Given the description of an element on the screen output the (x, y) to click on. 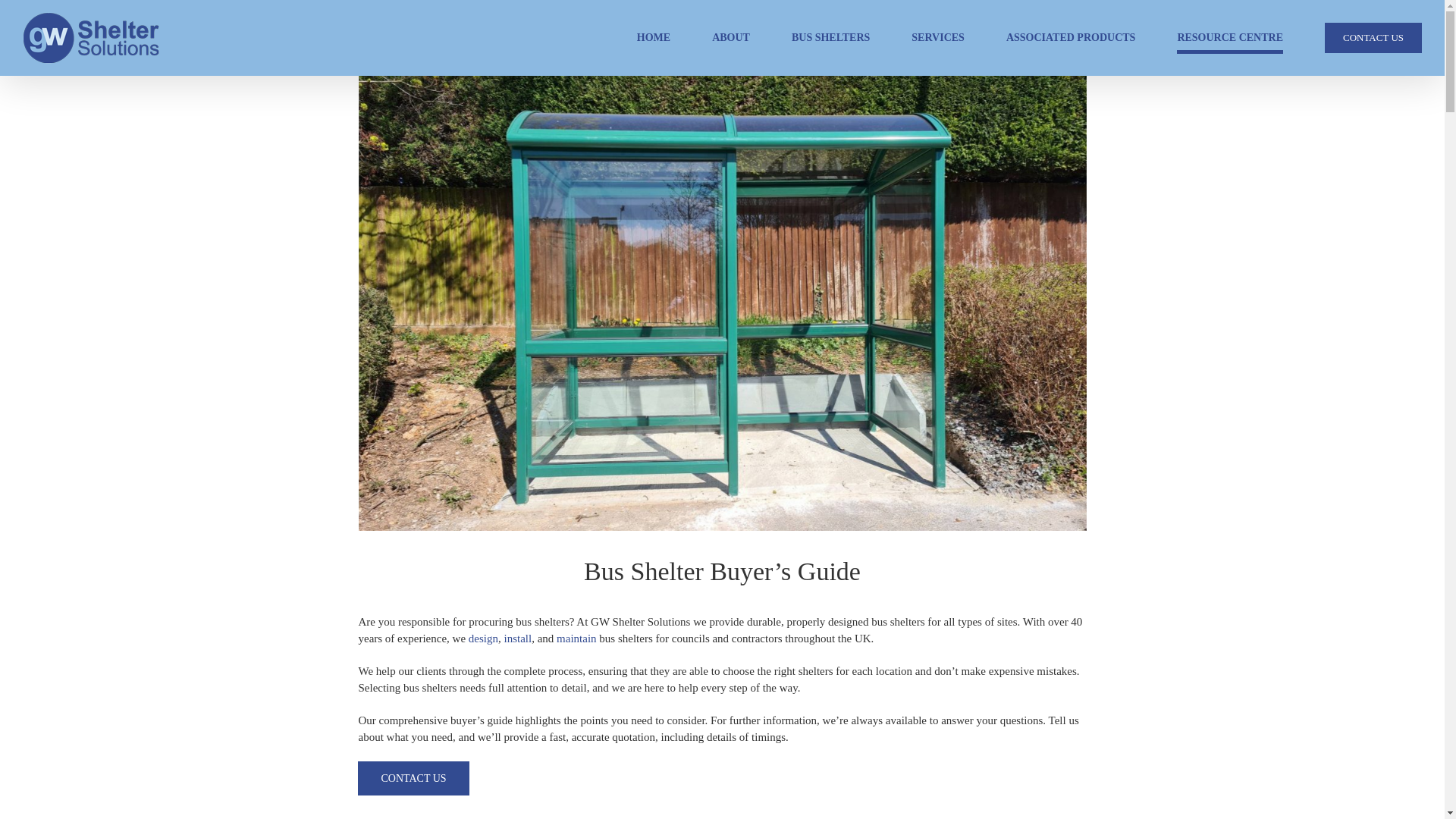
BUS SHELTERS (830, 38)
ASSOCIATED PRODUCTS (1070, 38)
CONTACT US (1373, 38)
RESOURCE CENTRE (1229, 38)
